Given the description of an element on the screen output the (x, y) to click on. 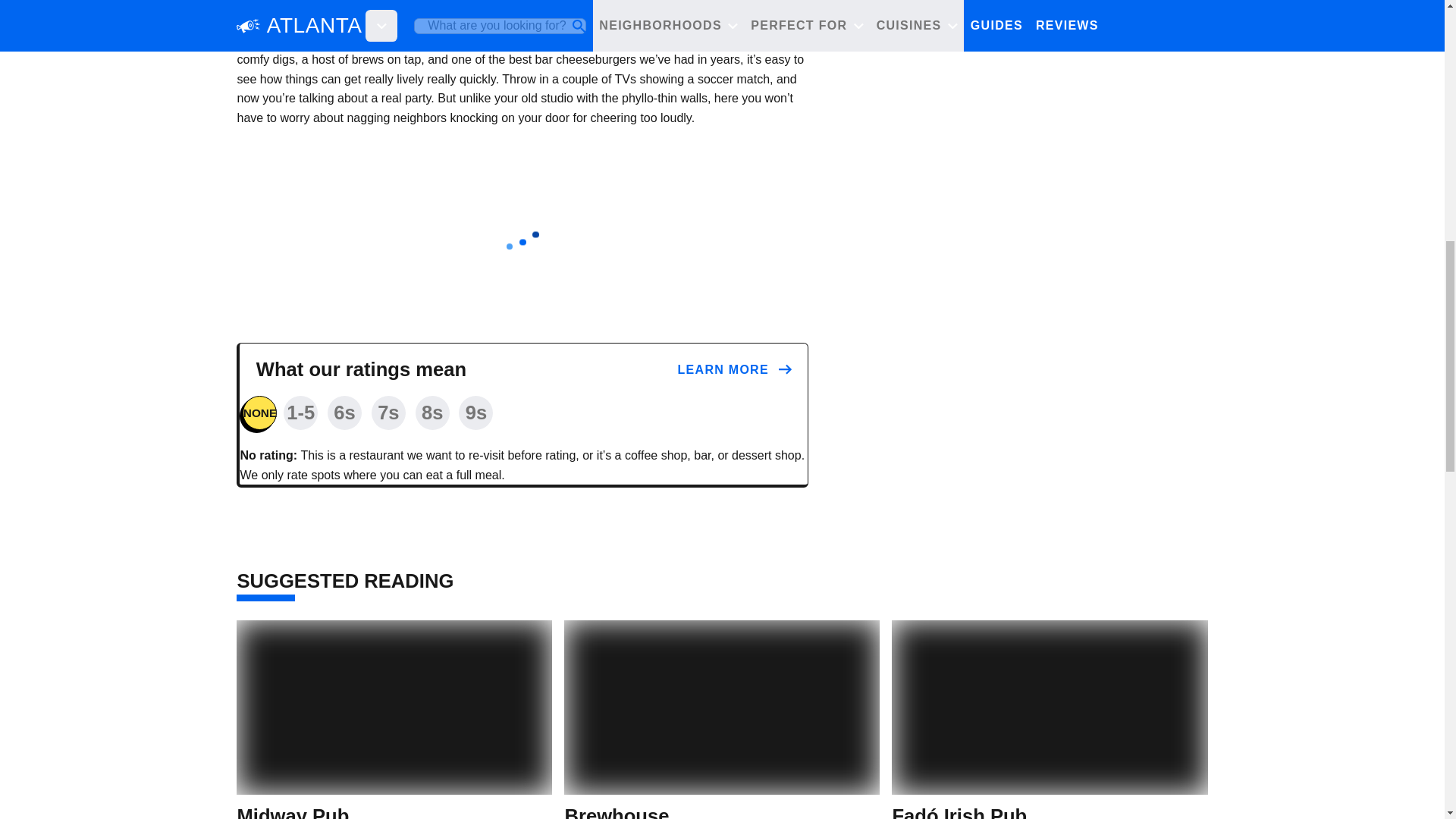
LEARN MORE (735, 370)
Brewhouse (616, 812)
Midway Pub (292, 812)
